Given the description of an element on the screen output the (x, y) to click on. 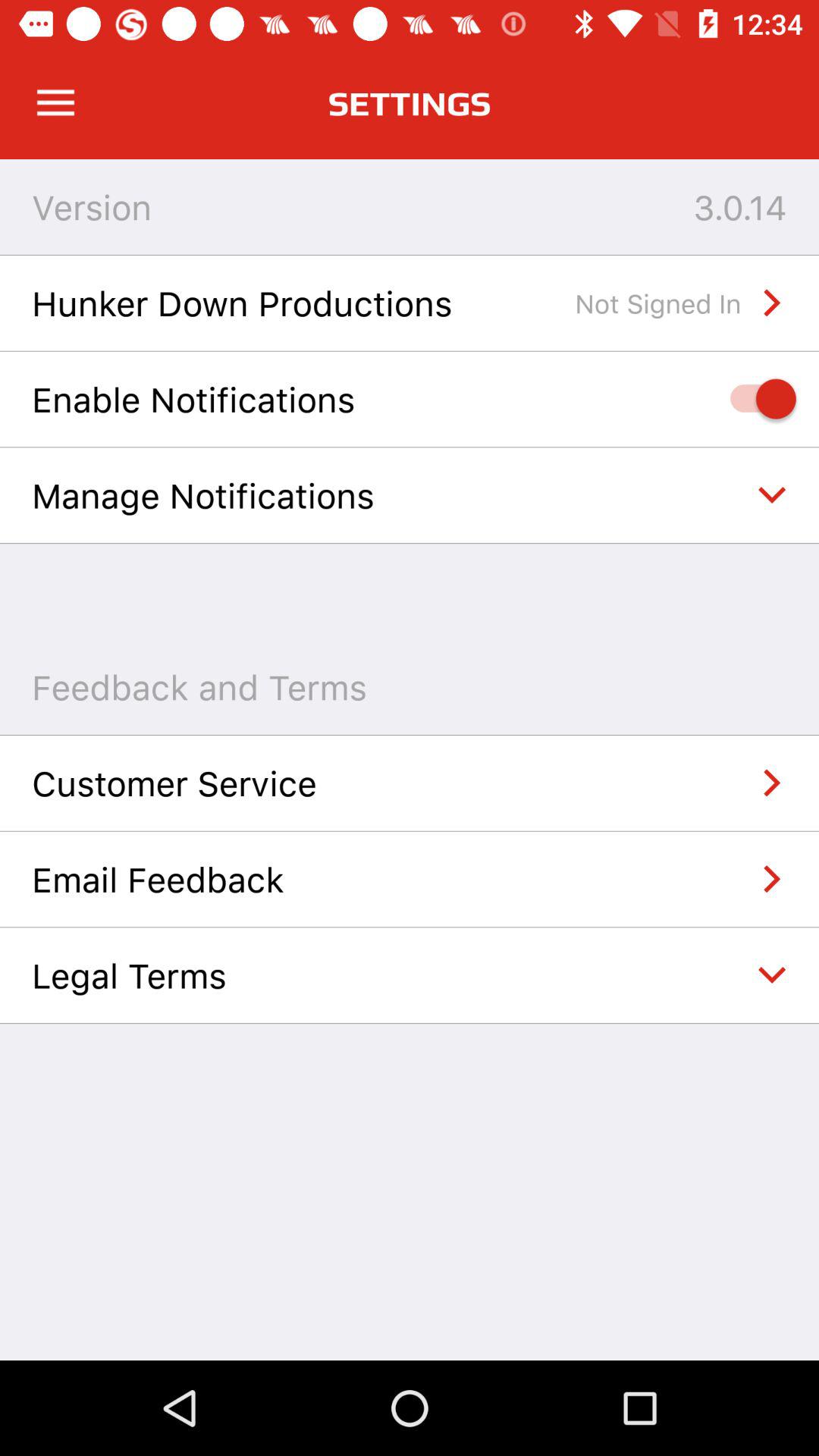
launch icon next to the settings item (55, 103)
